Given the description of an element on the screen output the (x, y) to click on. 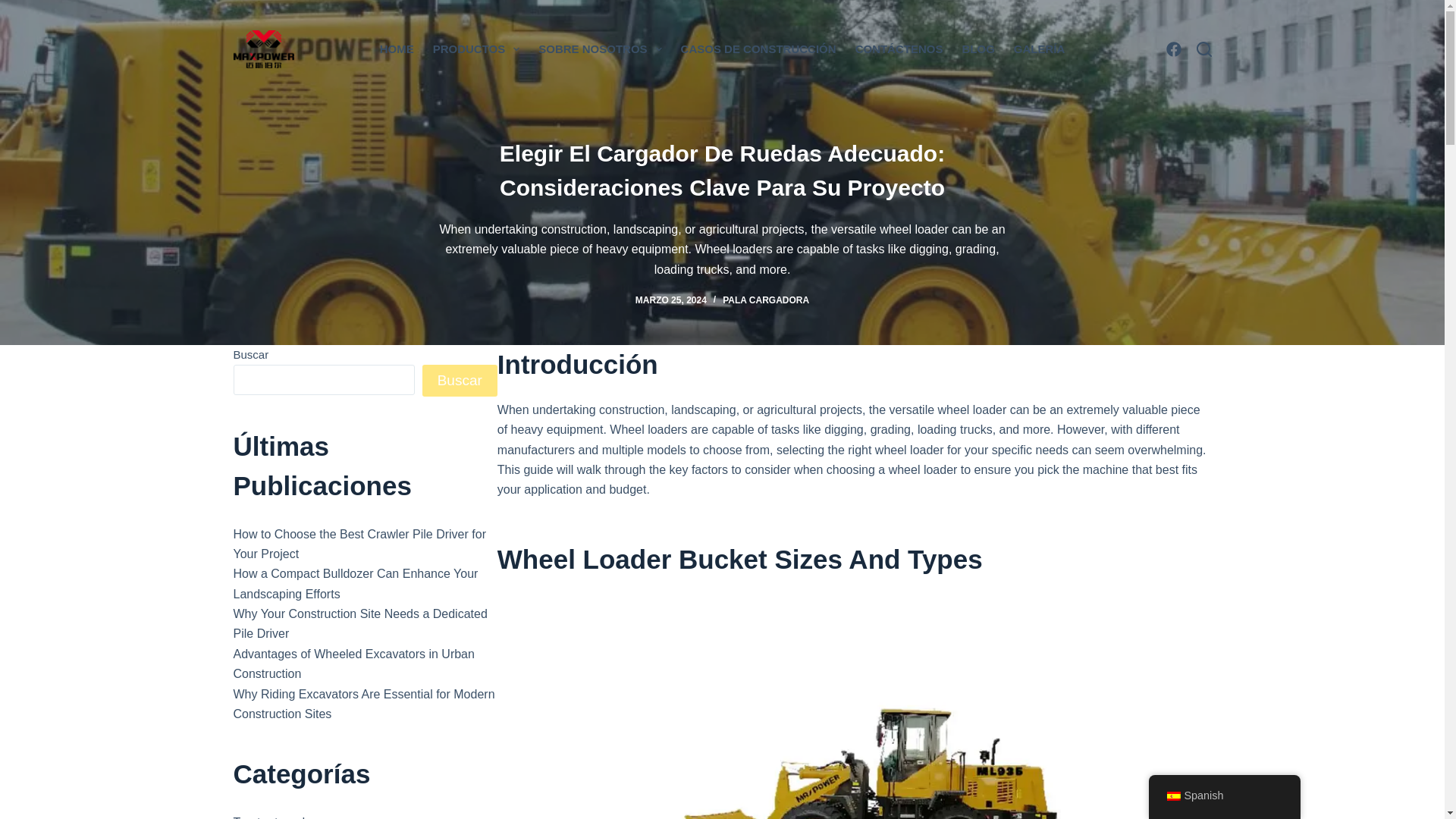
Spanish (1172, 795)
Saltar al contenido (15, 7)
SOBRE NOSOTROS (600, 49)
PRODUCTOS (476, 49)
